Given the description of an element on the screen output the (x, y) to click on. 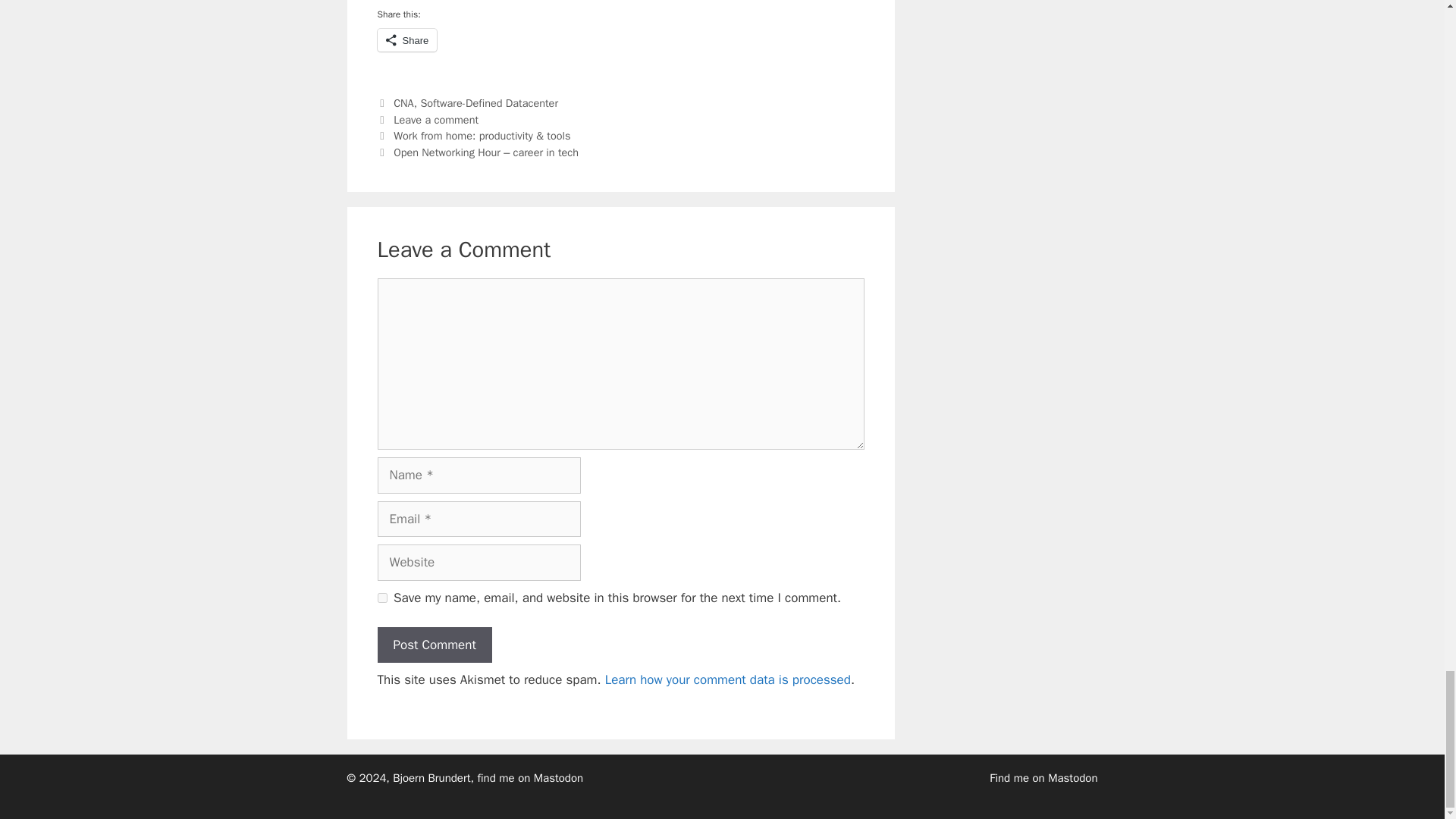
Post Comment (434, 645)
Share (407, 39)
Software-Defined Datacenter (488, 102)
CNA (403, 102)
yes (382, 597)
